Given the description of an element on the screen output the (x, y) to click on. 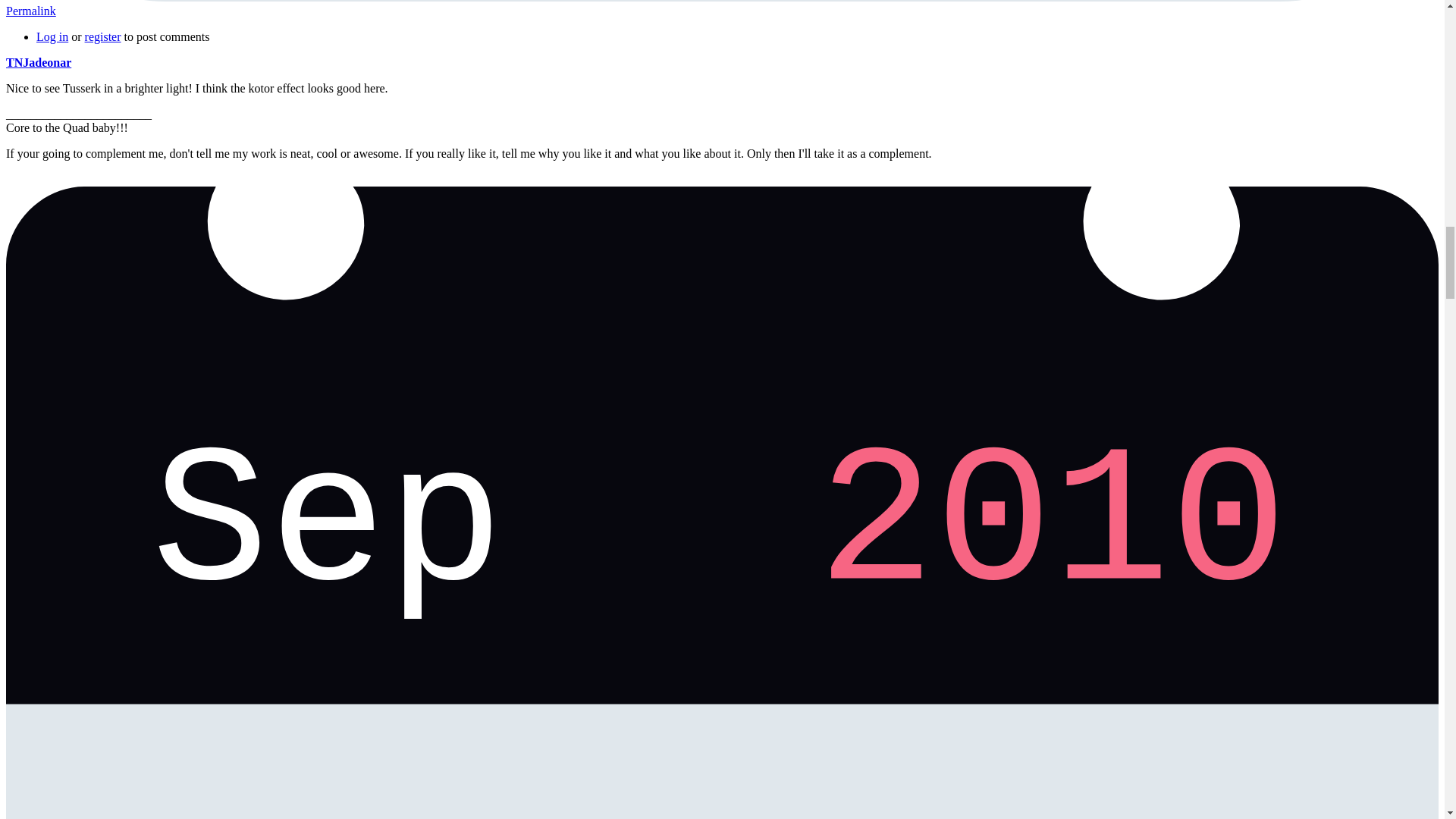
TNJadeonar (38, 62)
register (102, 36)
Log in (52, 36)
View user profile. (38, 62)
Permalink (30, 10)
